Given the description of an element on the screen output the (x, y) to click on. 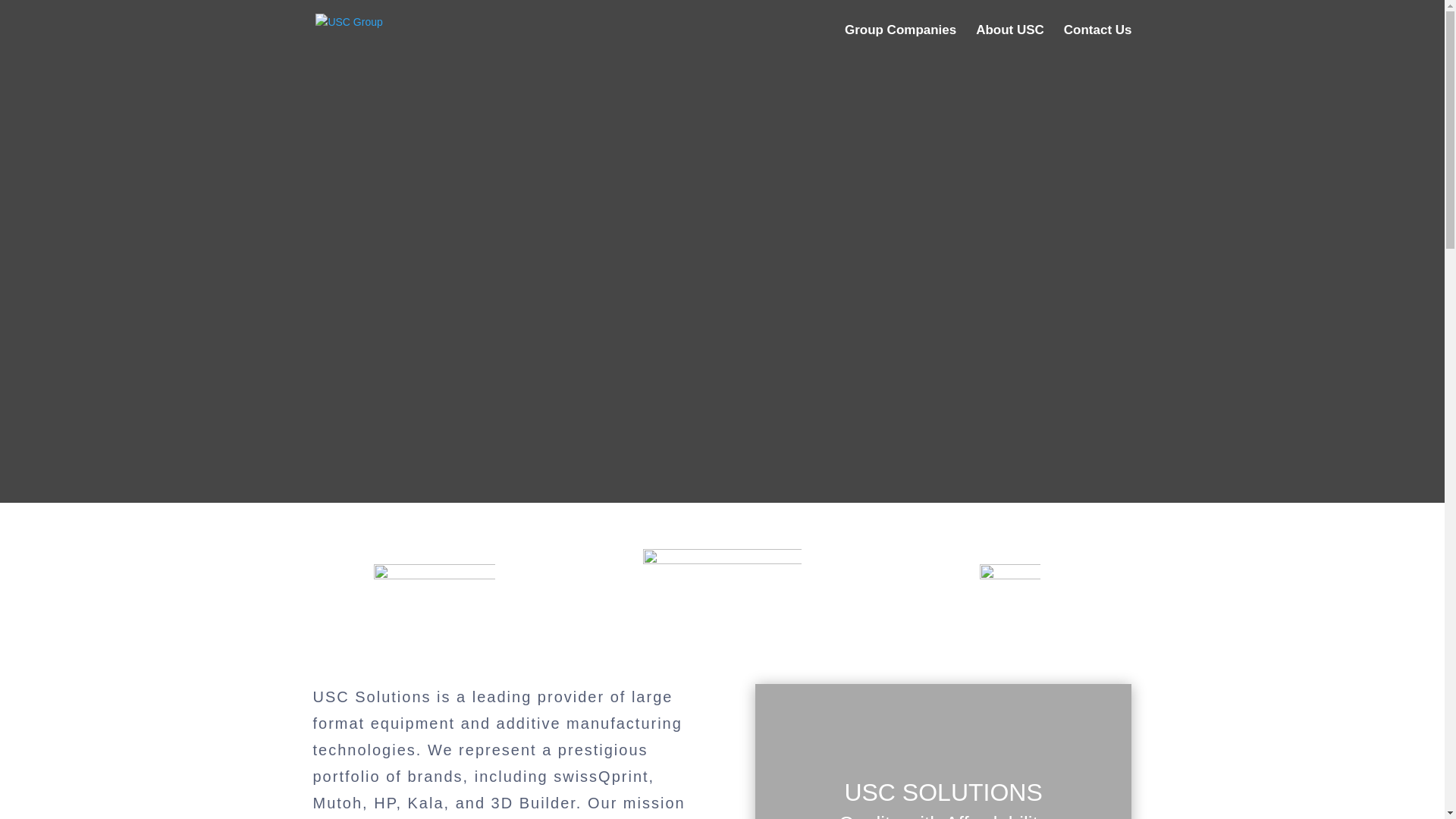
Chemtron-Big-Logo (721, 577)
Contact Us (1098, 42)
About USC (1009, 42)
USC Solns (434, 588)
Group Companies (900, 42)
pd-media-new (1010, 594)
